Given the description of an element on the screen output the (x, y) to click on. 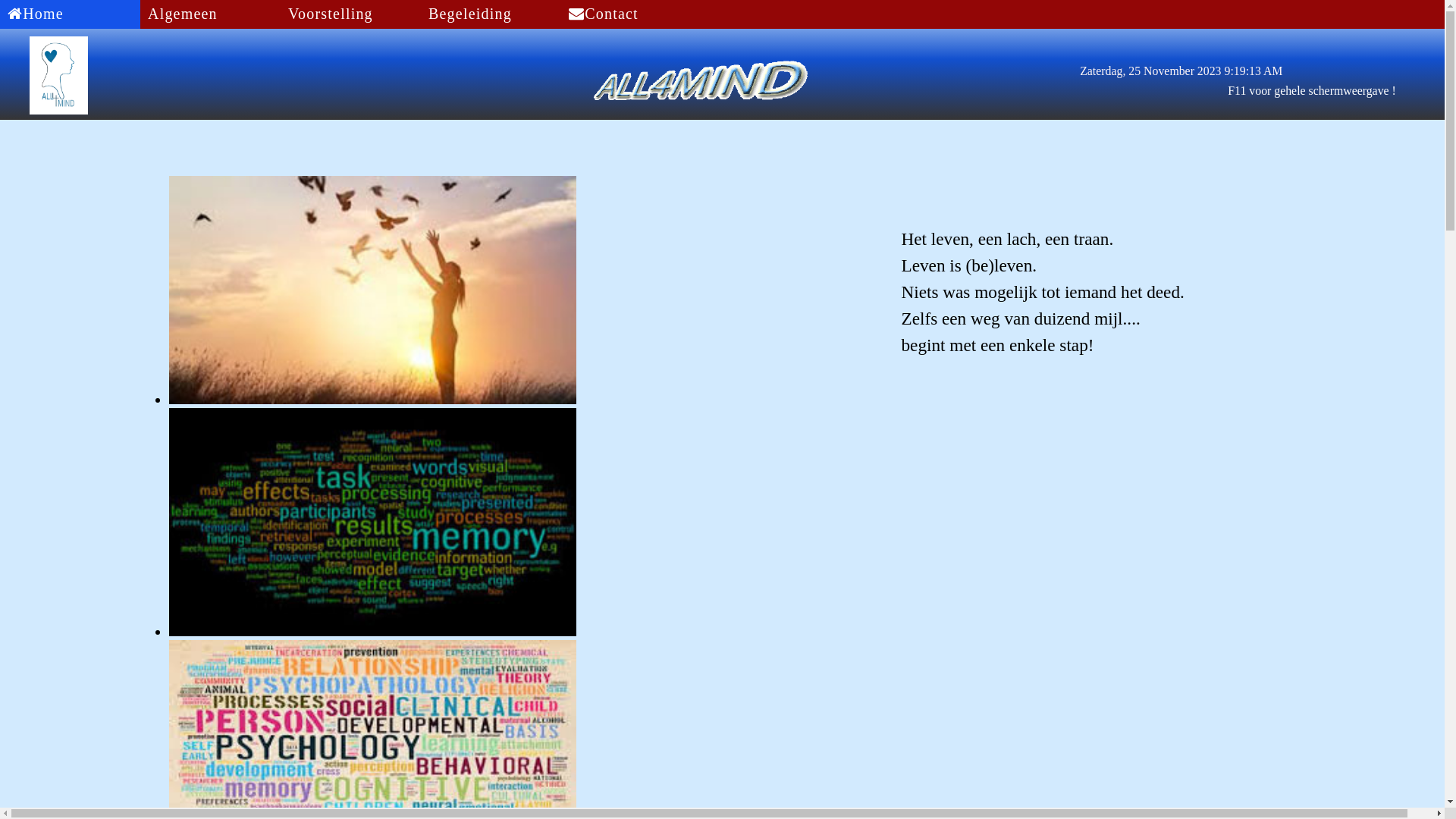
image11 Element type: hover (373, 289)
image6 Element type: hover (373, 521)
